Given the description of an element on the screen output the (x, y) to click on. 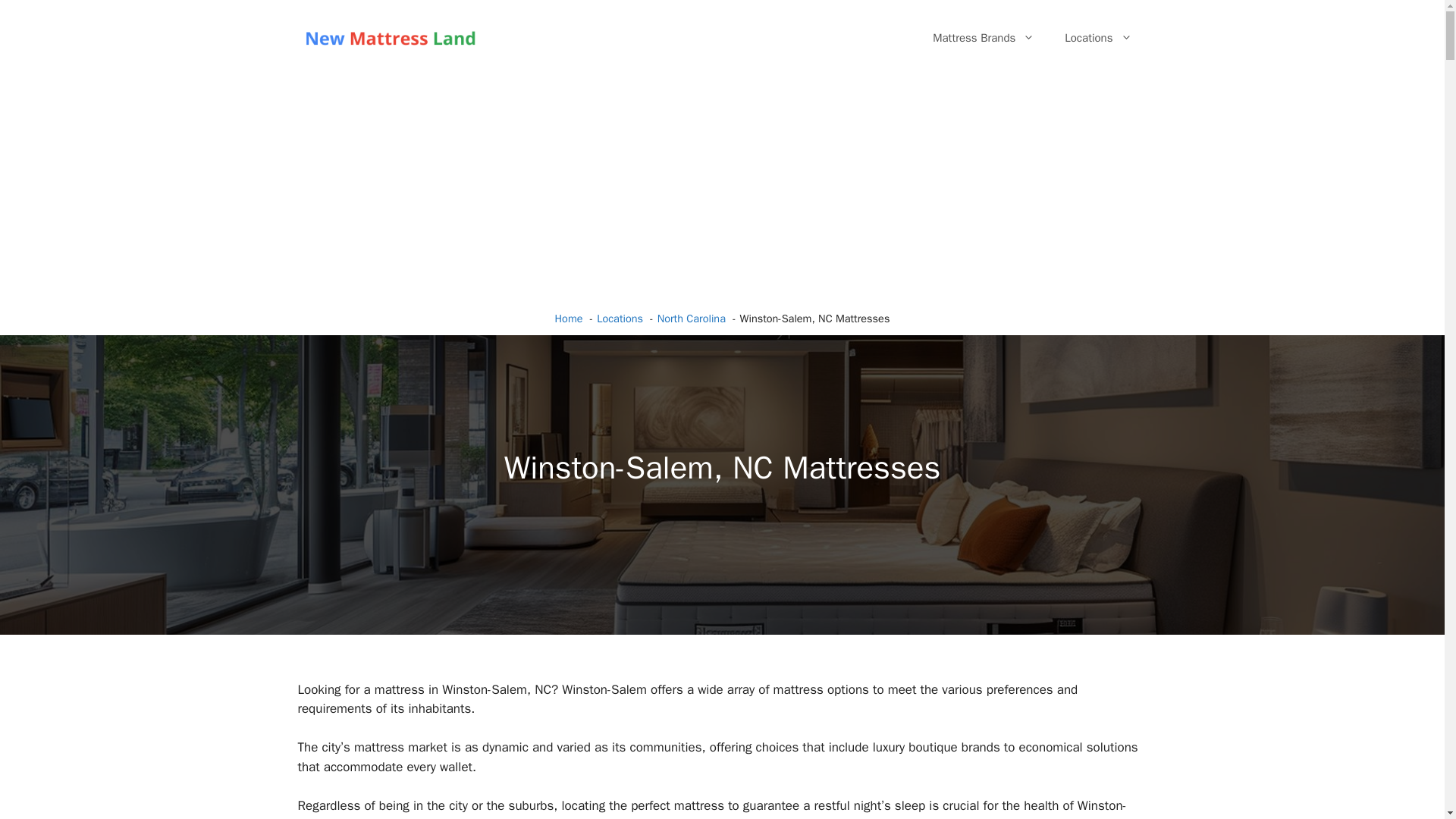
Locations (1098, 37)
Mattress Brands (983, 37)
North Carolina (691, 318)
Locations (619, 318)
Home (568, 318)
